Given the description of an element on the screen output the (x, y) to click on. 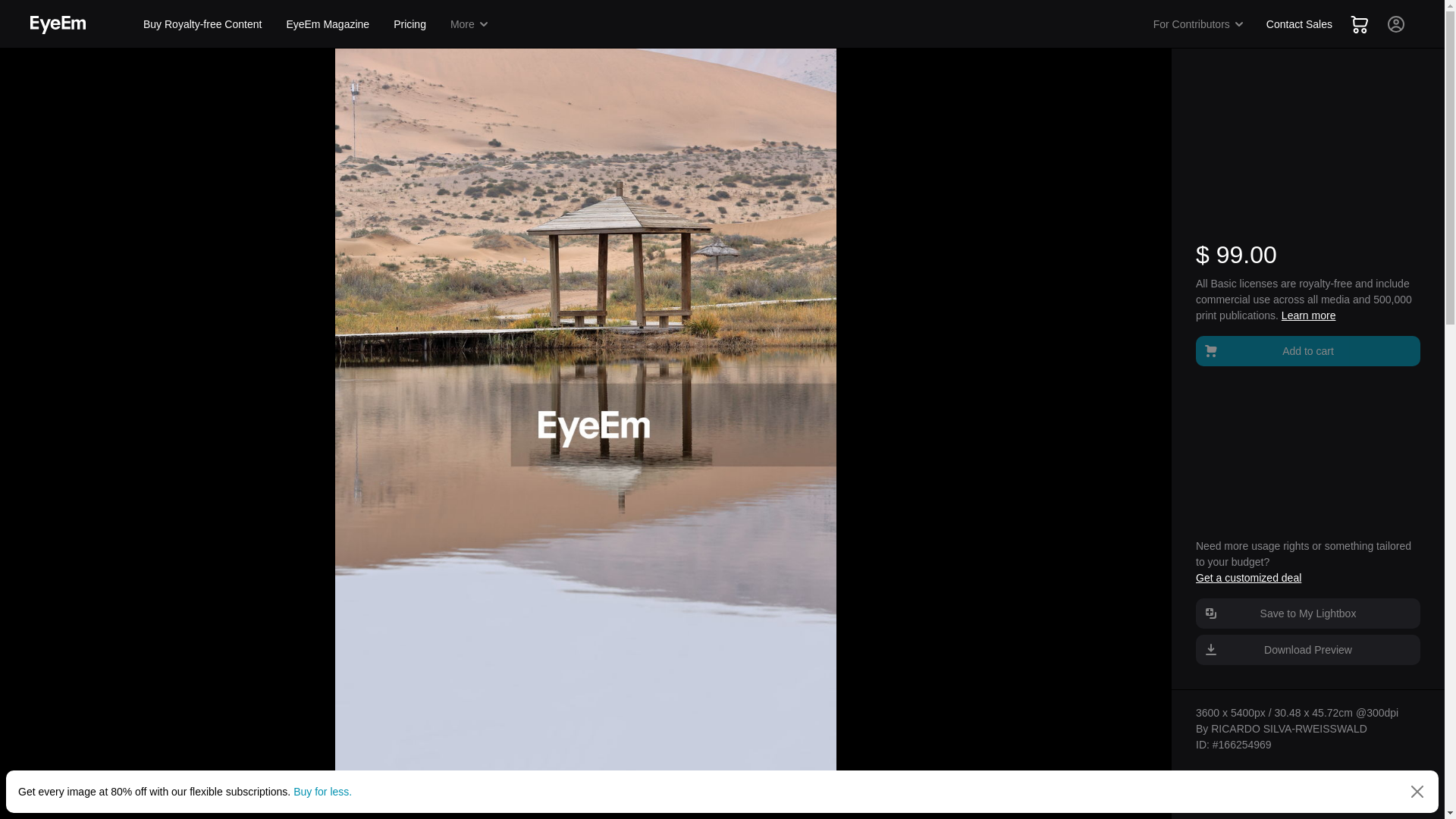
By RICARDO SILVA-RWEISSWALD (1281, 727)
EyeEm Magazine (327, 24)
Cart (1358, 24)
Learn more (1308, 315)
Buy for less. (323, 791)
Contact Sales (1298, 24)
Save to My Lightbox (1308, 613)
Add to cart (1308, 349)
Buy Royalty-free Content (201, 24)
For Contributors (1198, 24)
